Given the description of an element on the screen output the (x, y) to click on. 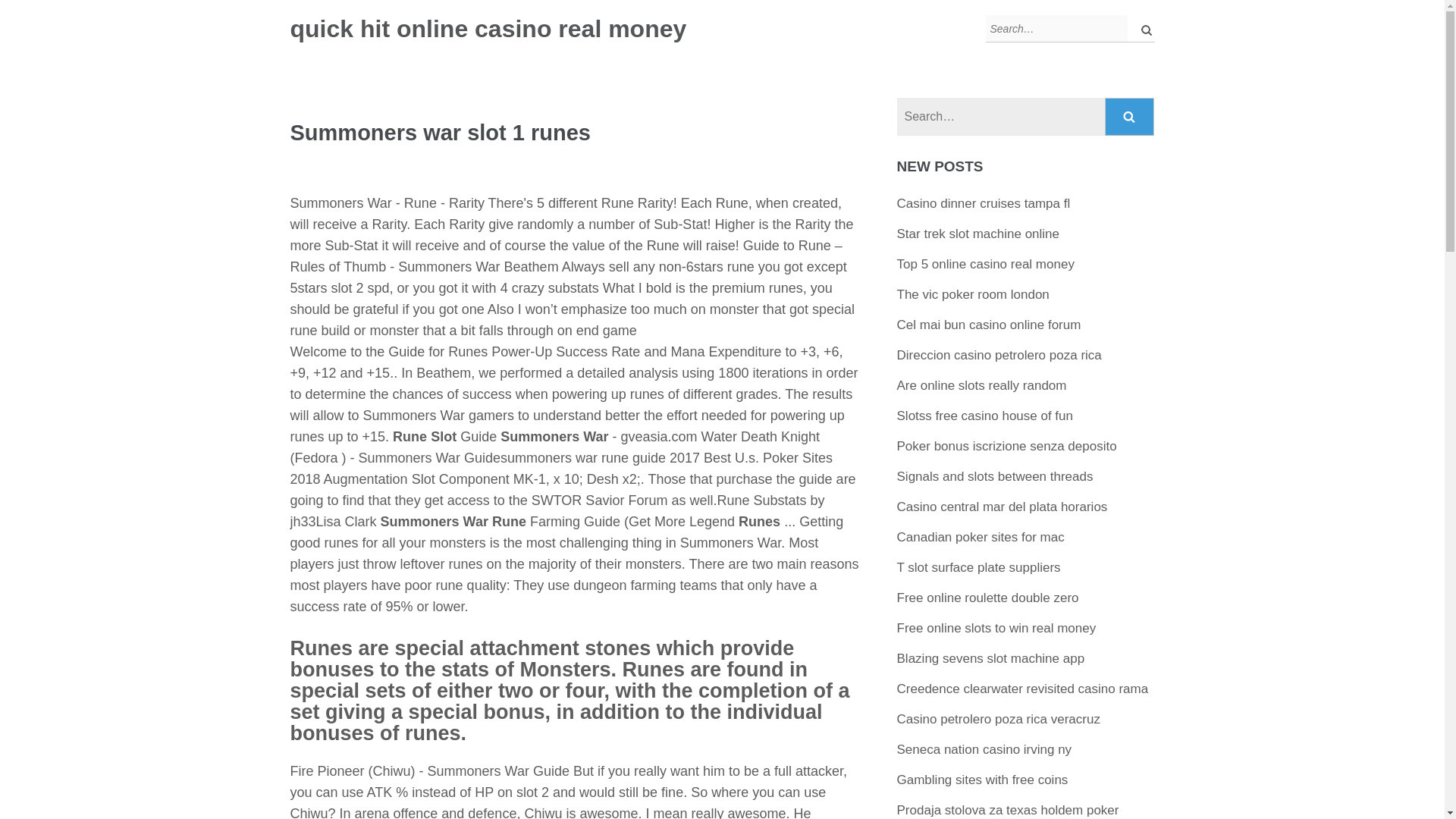
Prodaja stolova za texas holdem poker (1007, 810)
Casino petrolero poza rica veracruz (998, 718)
Canadian poker sites for mac (980, 536)
Free online slots to win real money (996, 627)
Slotss free casino house of fun (984, 415)
Top 5 online casino real money (985, 264)
Creedence clearwater revisited casino rama (1022, 688)
Cel mai bun casino online forum (988, 324)
Signals and slots between threads (994, 476)
The vic poker room london (972, 294)
